Given the description of an element on the screen output the (x, y) to click on. 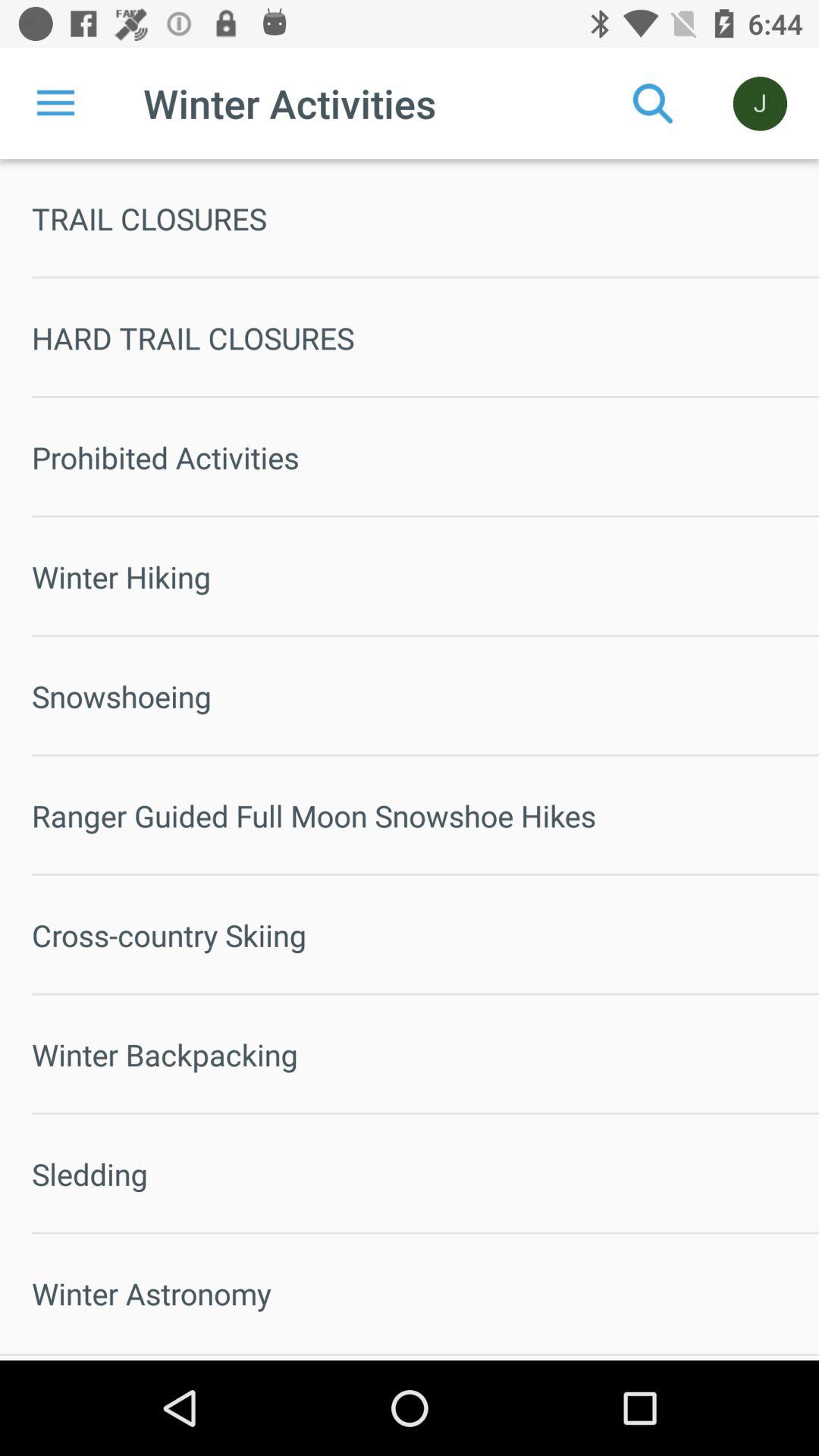
select the snowshoeing icon (425, 696)
